Given the description of an element on the screen output the (x, y) to click on. 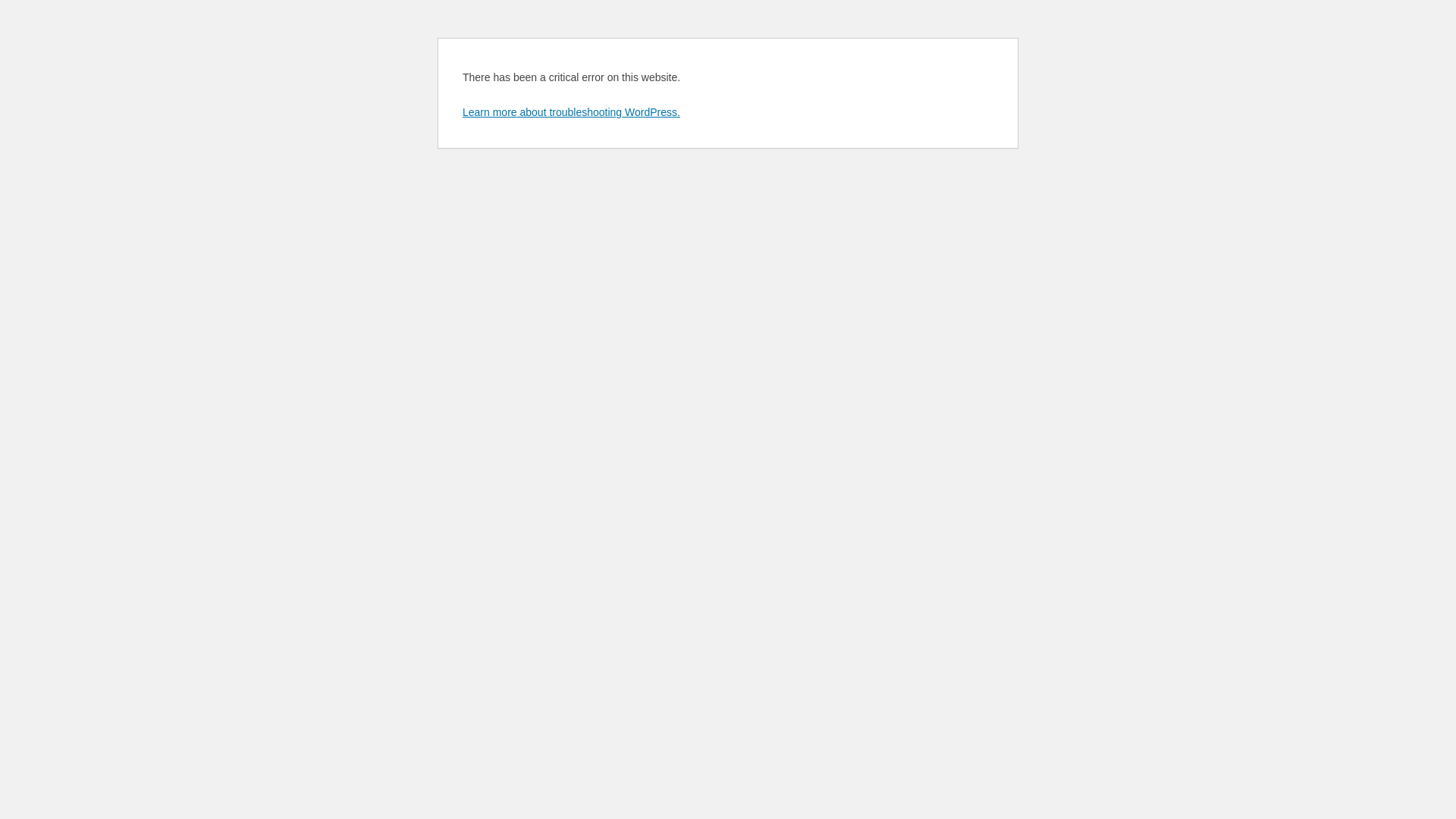
Learn more about troubleshooting WordPress. Element type: text (571, 112)
